Given the description of an element on the screen output the (x, y) to click on. 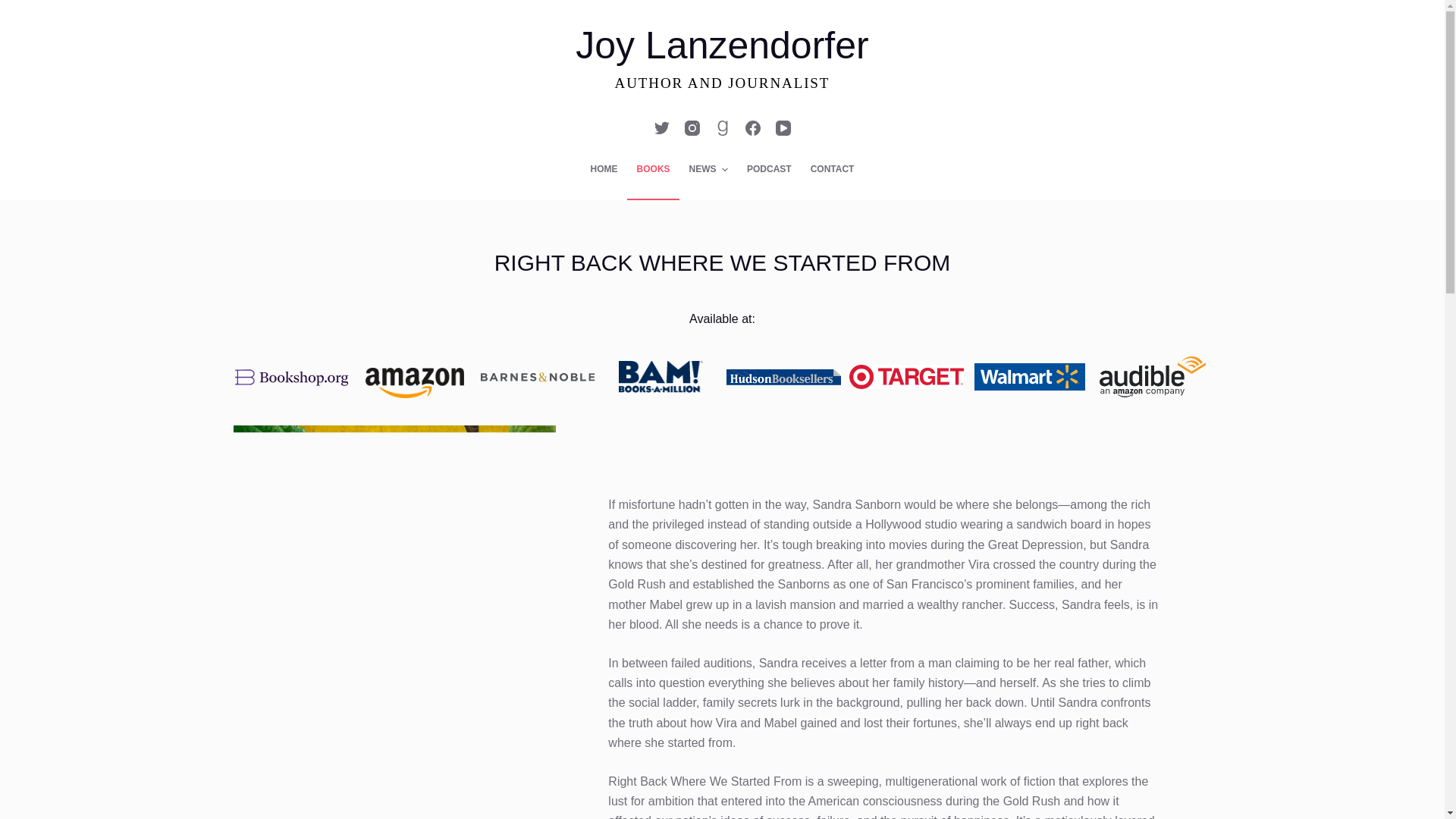
PODCAST (768, 169)
AUTHOR AND JOURNALIST (721, 82)
Skip to content (15, 7)
RIGHT BACK WHERE WE STARTED FROM (721, 262)
NEWS (707, 169)
CONTACT (831, 169)
Joy Lanzendorfer (721, 45)
